Given the description of an element on the screen output the (x, y) to click on. 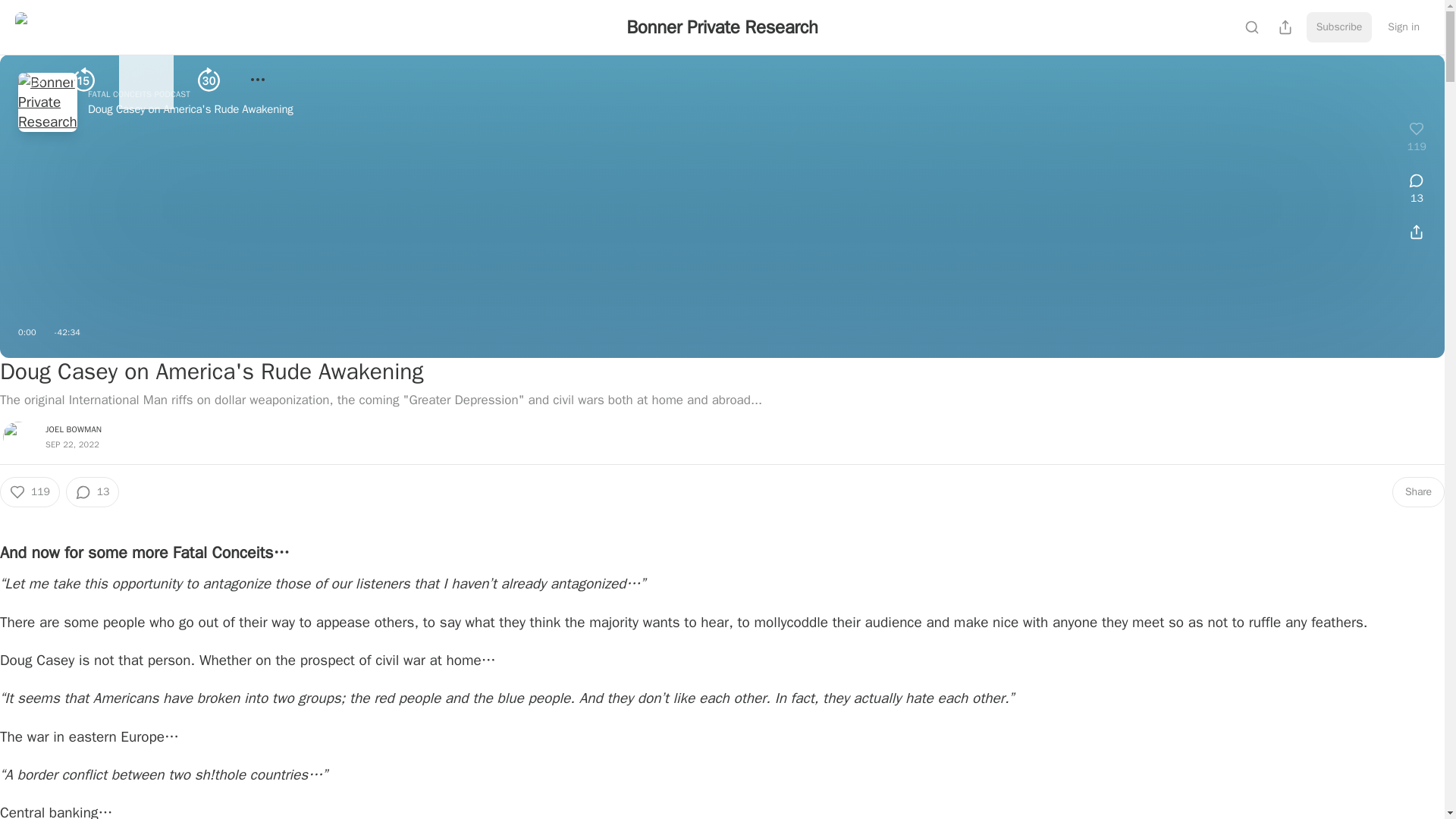
13 (92, 491)
Sign in (1403, 27)
Bonner Private Research (722, 26)
Share (1417, 491)
Subscribe (1339, 27)
JOEL BOWMAN (73, 429)
119 (29, 491)
